Given the description of an element on the screen output the (x, y) to click on. 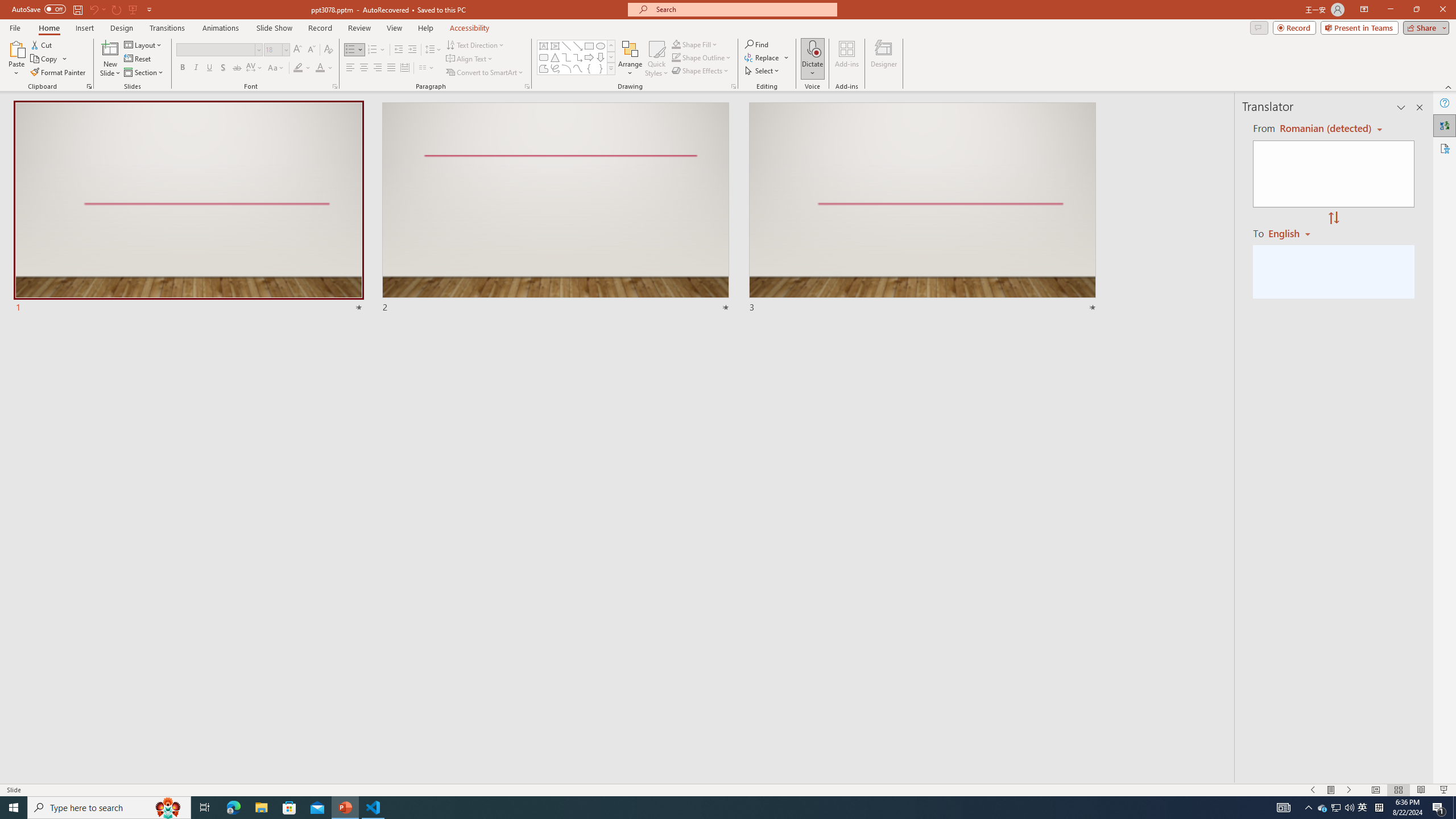
Convert to SmartArt (485, 72)
Office Clipboard... (88, 85)
Arrow: Down (600, 57)
Swap "from" and "to" languages. (1333, 218)
Select (762, 69)
